Given the description of an element on the screen output the (x, y) to click on. 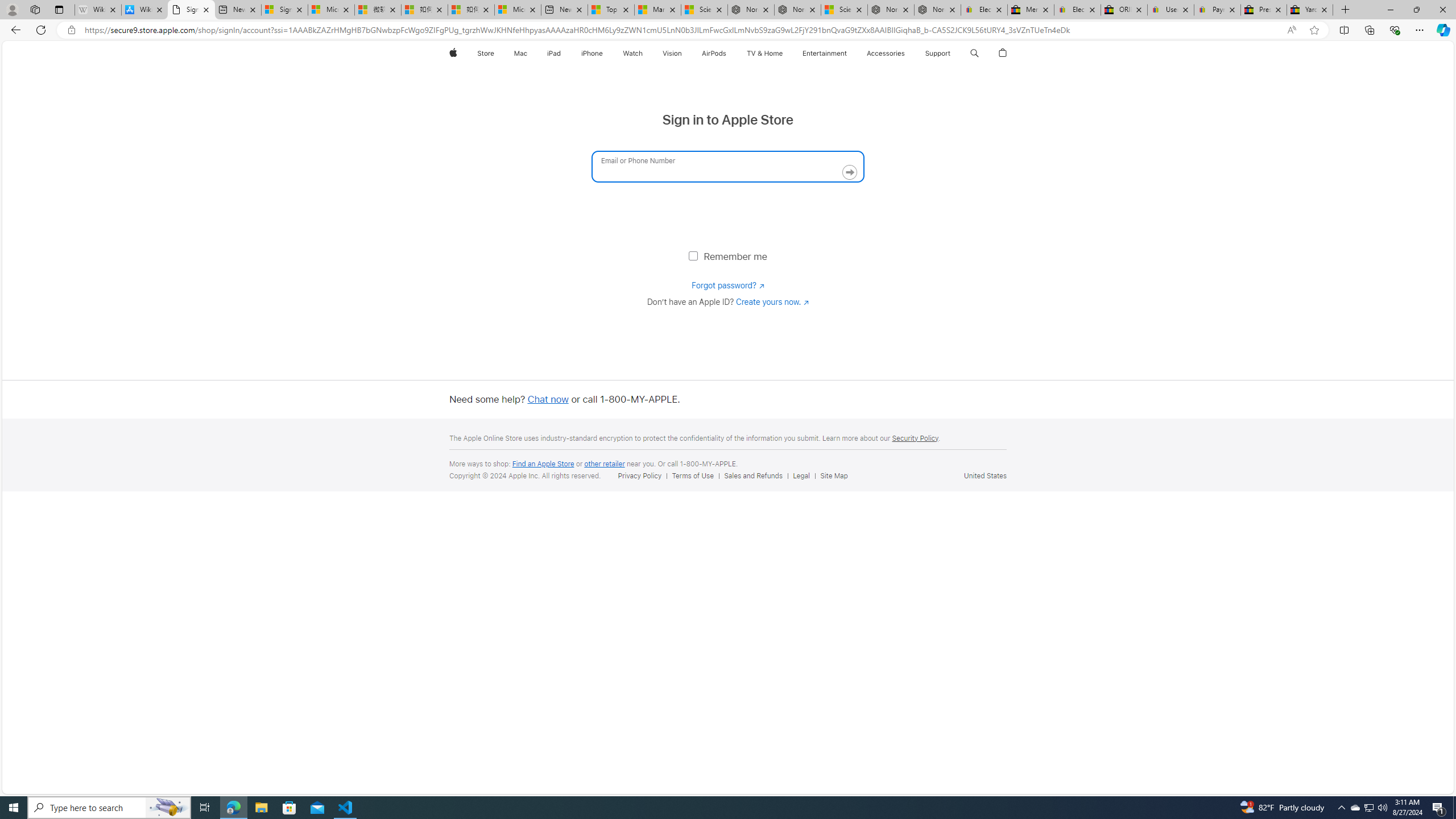
Chat now (Opens in a new window) (548, 398)
Sign in - Apple (191, 9)
Shopping Bag (1001, 53)
Support (937, 53)
Privacy Policy (641, 475)
